Given the description of an element on the screen output the (x, y) to click on. 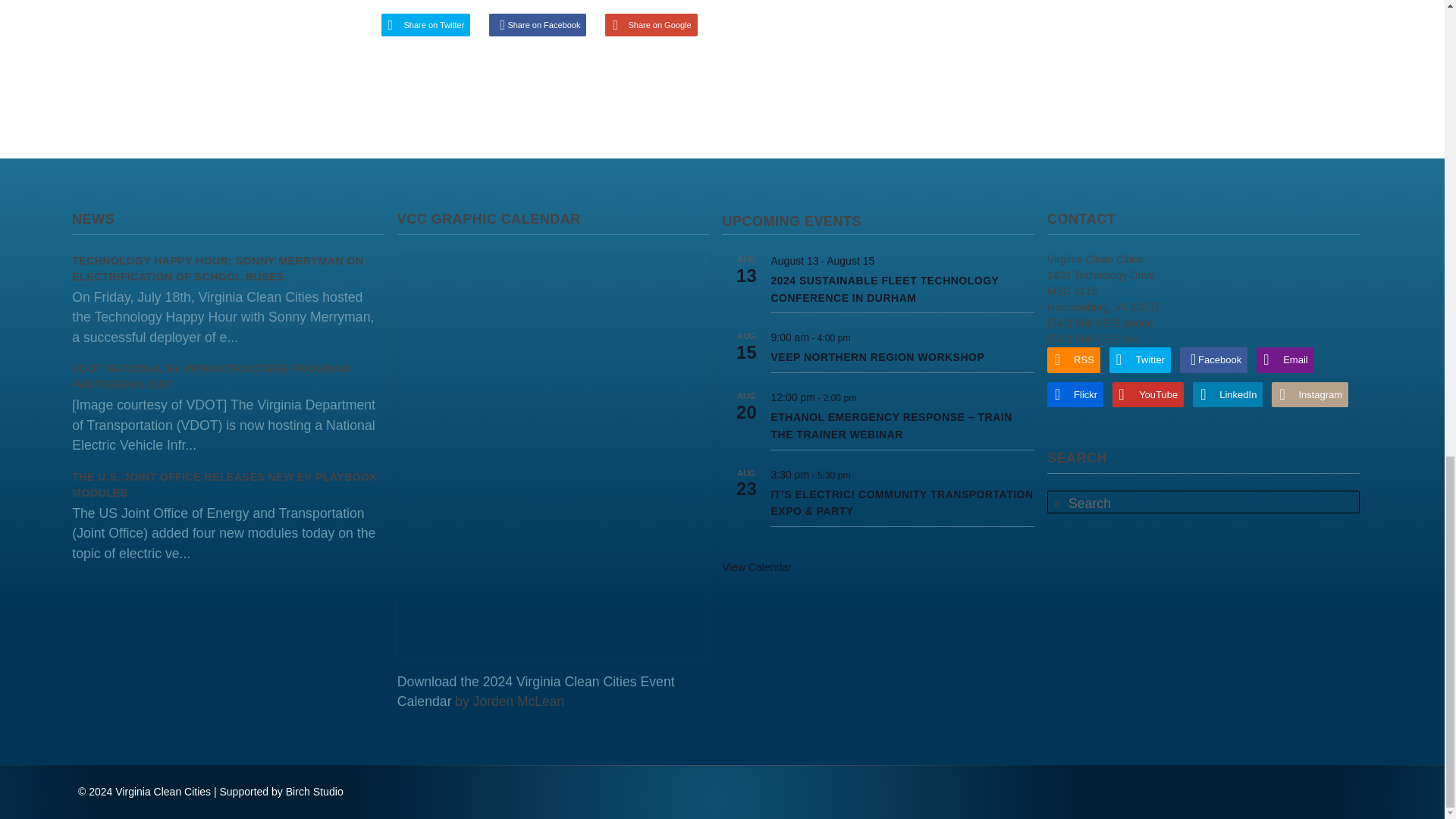
YouTube (1147, 394)
Email (1285, 360)
View more events. (757, 567)
Facebook (1213, 360)
Flickr (1074, 394)
RSS Feed (1073, 360)
Instagram (1309, 394)
2024 Sustainable Fleet Technology Conference in Durham (884, 289)
LinkedIn (1227, 394)
VEEP Northern Region Workshop (877, 357)
